Given the description of an element on the screen output the (x, y) to click on. 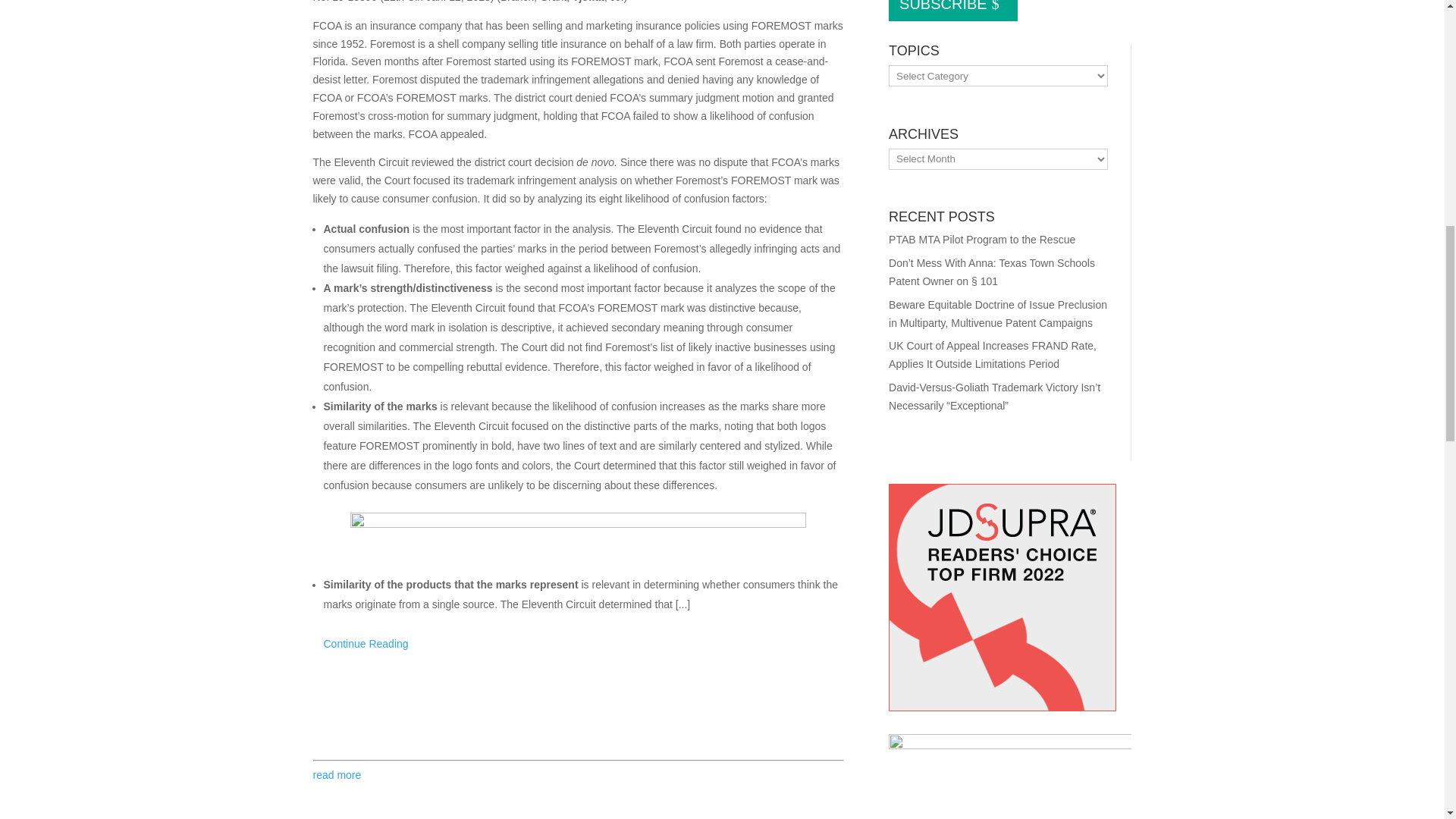
E-Mail (354, 718)
Share on X (384, 718)
Continue Reading (365, 644)
Share on Facebook (415, 718)
Print (324, 718)
Share on LinkedIn (445, 718)
